Given the description of an element on the screen output the (x, y) to click on. 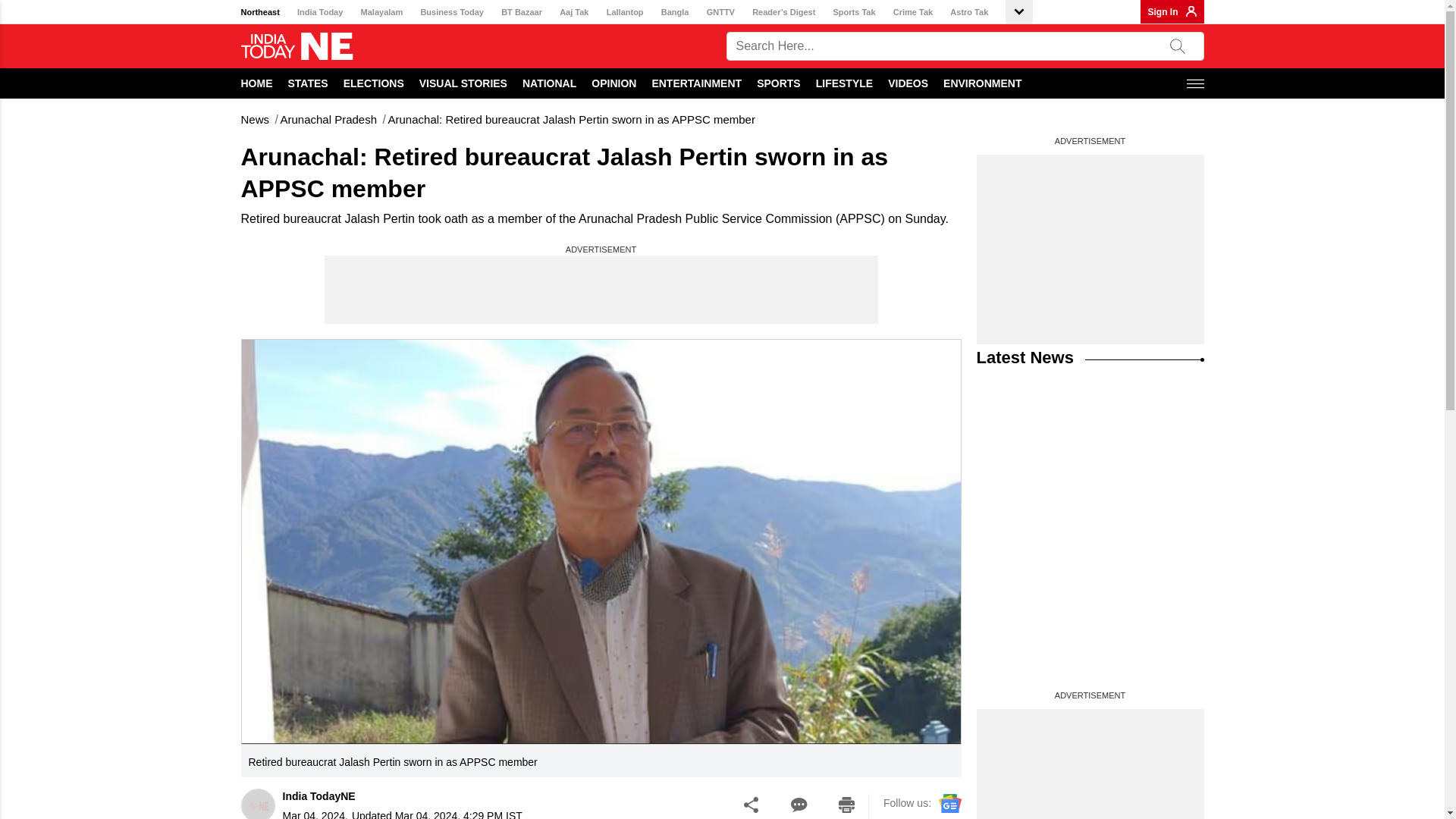
Sports Tak (854, 12)
Aaj Tak (573, 12)
Business Today (451, 12)
Aaj Tak (573, 12)
ENTERTAINMENT (695, 82)
OPINION (613, 82)
India Today (319, 12)
Malayalam (382, 12)
Northeast (260, 12)
Astro Tak (969, 12)
